Given the description of an element on the screen output the (x, y) to click on. 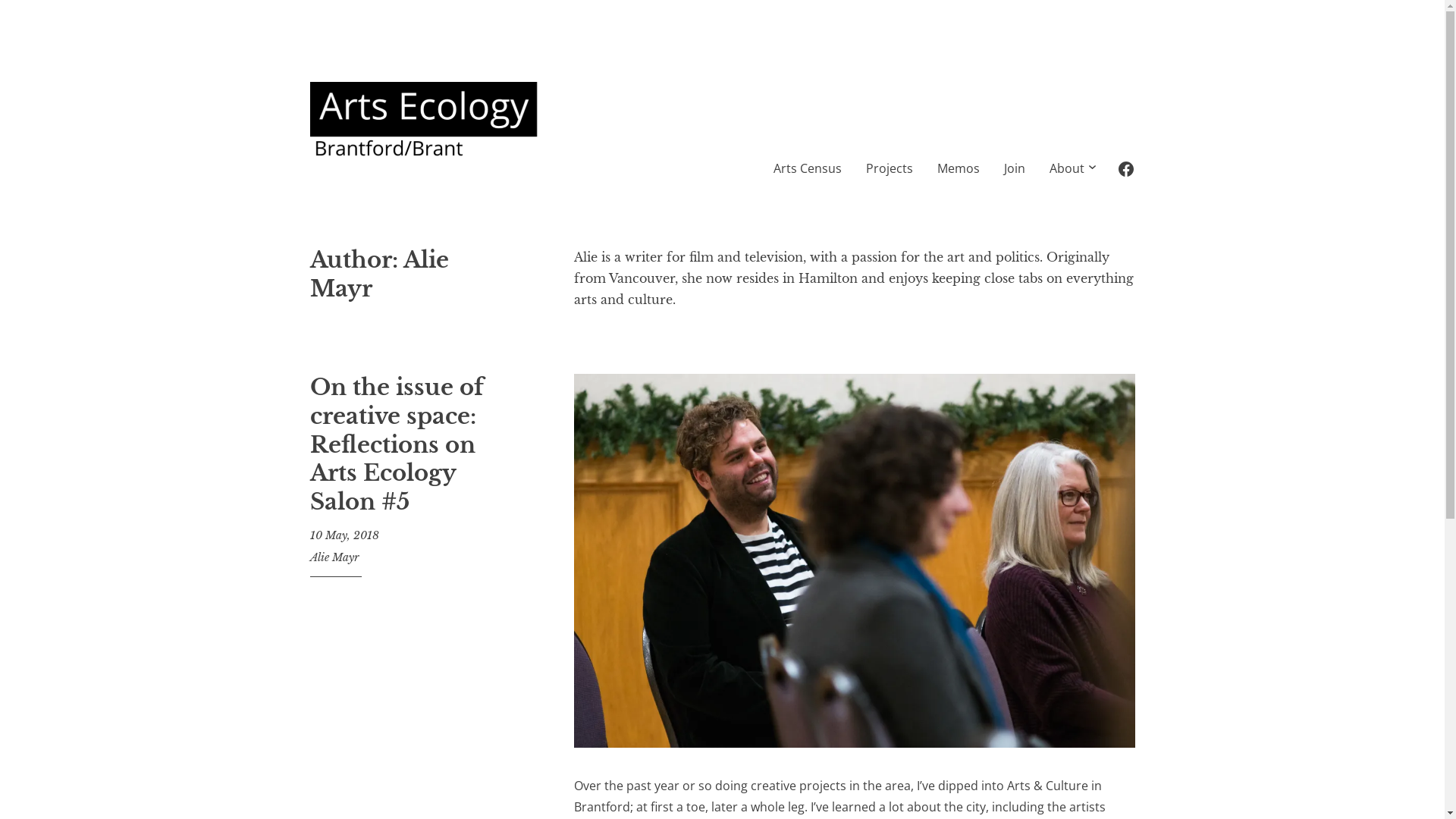
Alie Mayr Element type: text (333, 557)
About Element type: text (1066, 168)
Arts Ecology of Brantford/Brant Element type: text (588, 202)
Memos Element type: text (958, 168)
Facebook Element type: text (1125, 165)
Skip to content Element type: text (309, 59)
Projects Element type: text (889, 168)
10 May, 2018 Element type: text (343, 535)
Arts Census Element type: text (807, 168)
Join Element type: text (1014, 168)
